Given the description of an element on the screen output the (x, y) to click on. 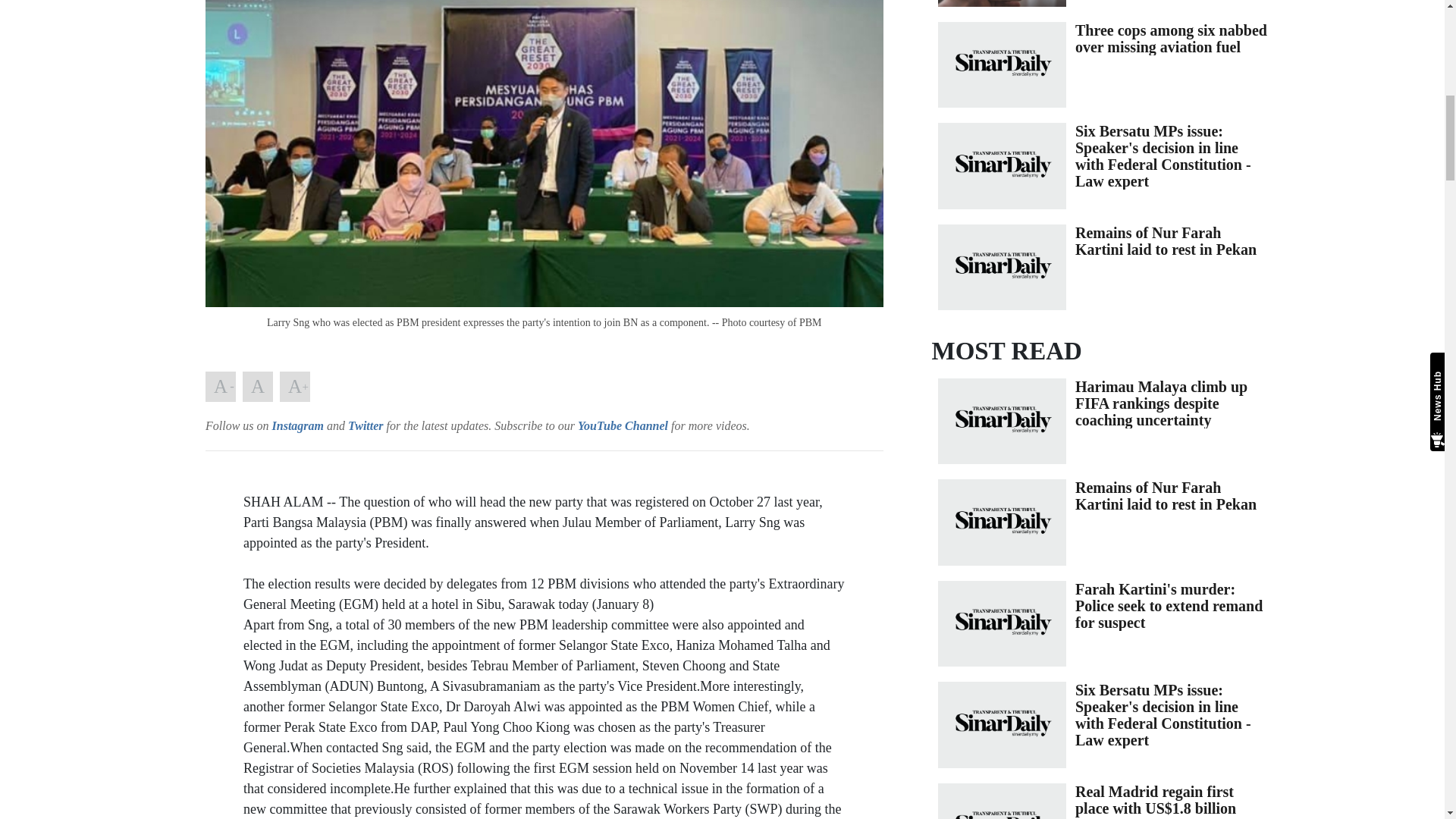
Teks Besar (294, 386)
Teks Kecil (220, 386)
Teks Asal (258, 386)
